Given the description of an element on the screen output the (x, y) to click on. 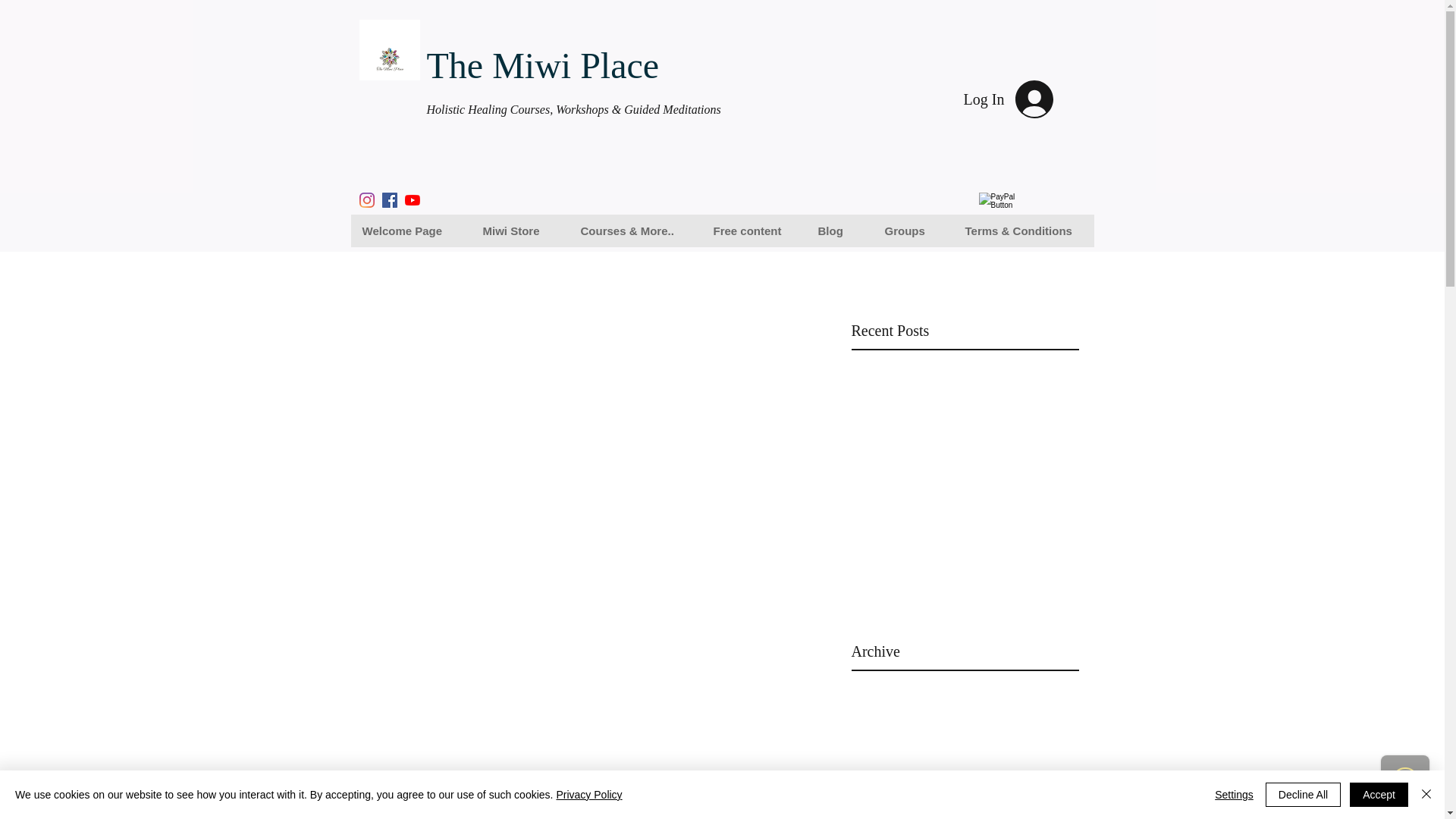
Miwi Store (520, 230)
Blog (839, 230)
Welcome Page (410, 230)
Accept (1378, 794)
Decline All (1302, 794)
Log In (1020, 99)
Free content (753, 230)
Groups (913, 230)
Privacy Policy (588, 794)
